Given the description of an element on the screen output the (x, y) to click on. 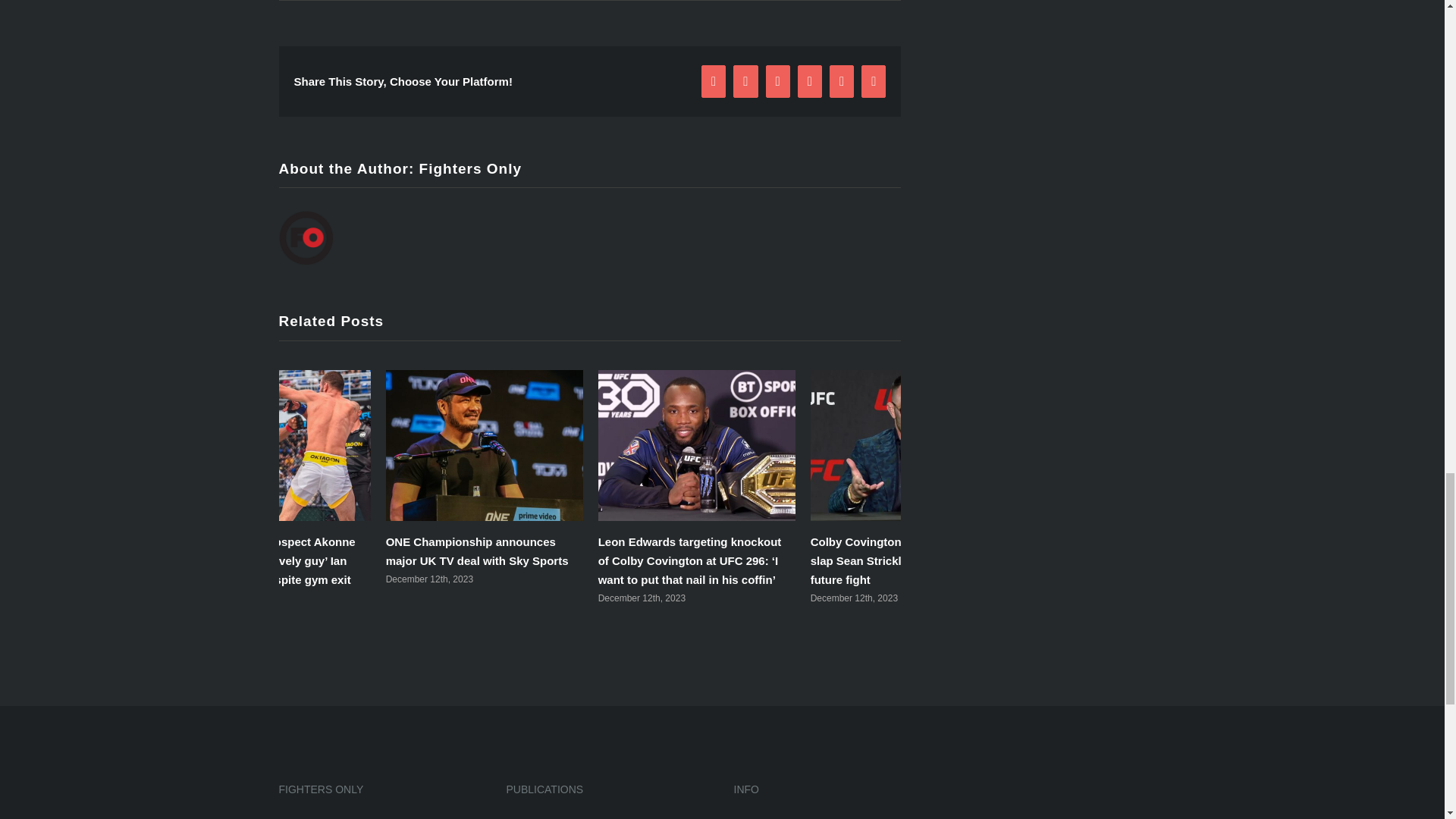
Fighters Only (470, 168)
Posts by Fighters Only (470, 168)
ONE Championship announces major UK TV deal with Sky Sports (477, 551)
ONE Championship announces major UK TV deal with Sky Sports (477, 551)
